Given the description of an element on the screen output the (x, y) to click on. 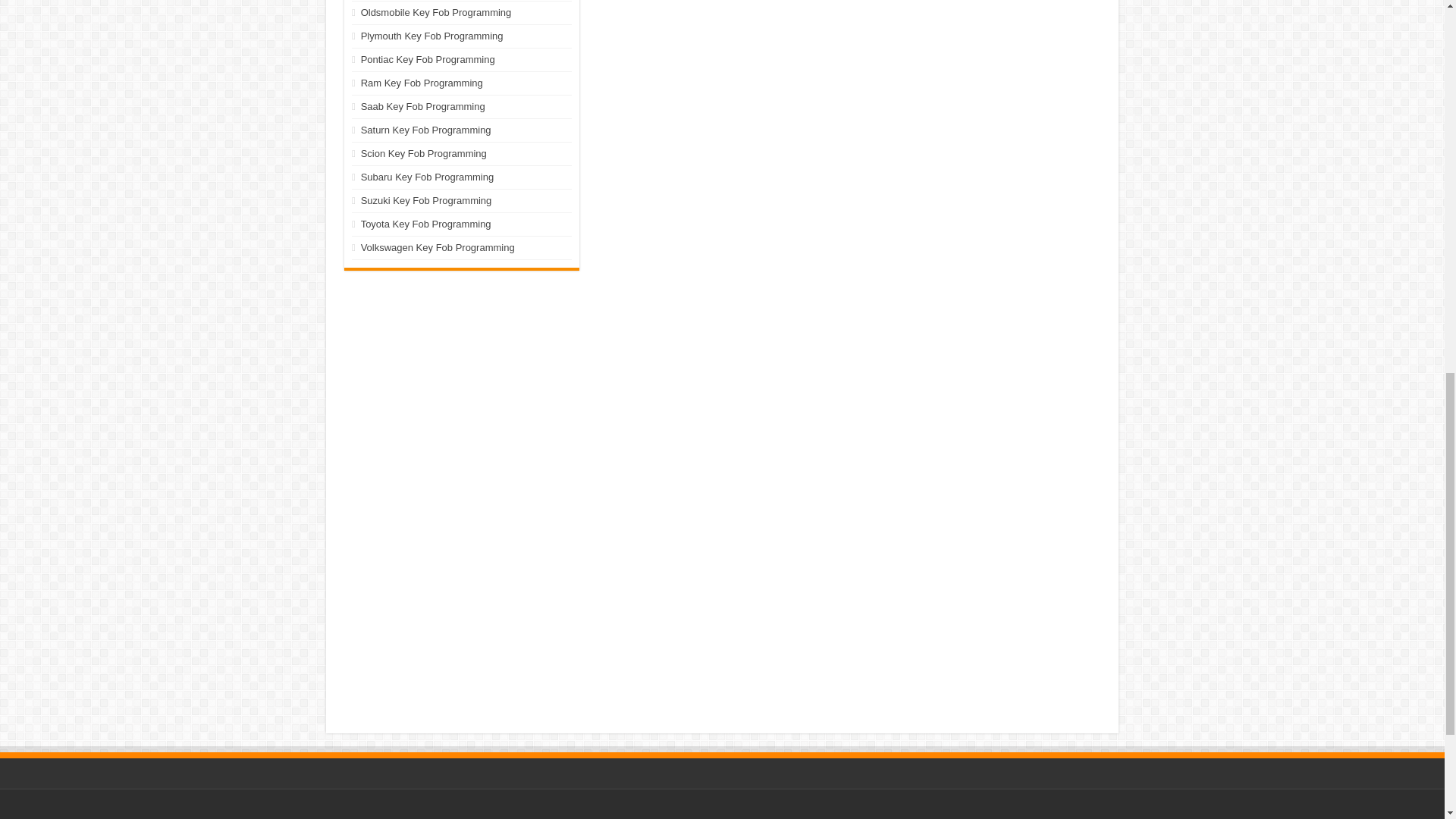
Oldsmobile Key Fob Programming (436, 12)
Subaru Key Fob Programming (428, 176)
Advertisement (461, 372)
Saturn Key Fob Programming (426, 129)
Suzuki Key Fob Programming (426, 200)
Plymouth Key Fob Programming (432, 35)
Scion Key Fob Programming (423, 153)
Ram Key Fob Programming (422, 82)
Pontiac Key Fob Programming (428, 59)
Volkswagen Key Fob Programming (438, 247)
Advertisement (721, 813)
Saab Key Fob Programming (422, 106)
Scroll To Top (1421, 60)
Toyota Key Fob Programming (426, 224)
